Given the description of an element on the screen output the (x, y) to click on. 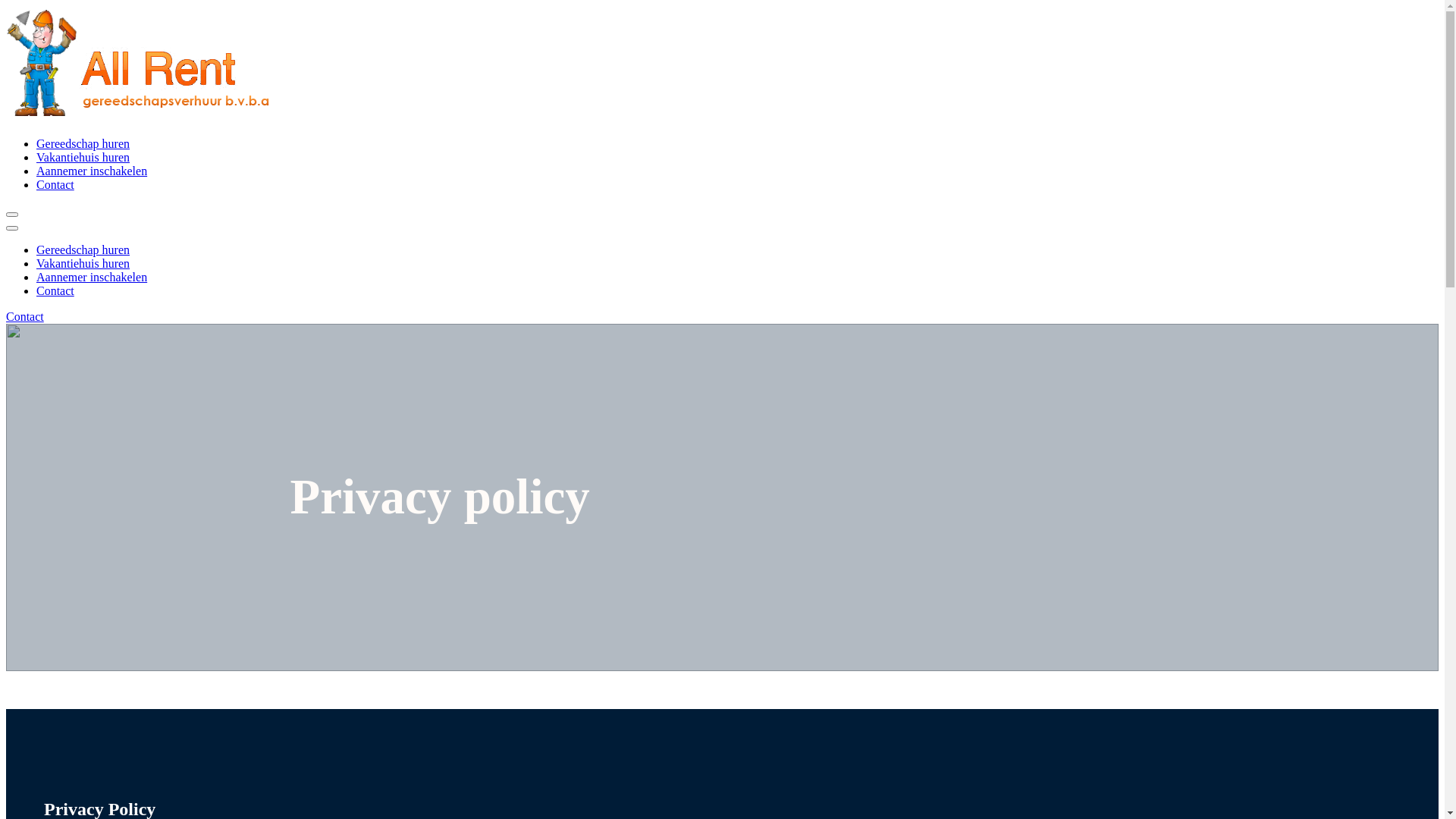
Vakantiehuis huren Element type: text (82, 263)
Gereedschap huren Element type: text (82, 143)
Aannemer inschakelen Element type: text (91, 170)
Contact Element type: text (55, 290)
Gereedschap huren Element type: text (82, 249)
Aannemer inschakelen Element type: text (91, 276)
Vakantiehuis huren Element type: text (82, 156)
Contact Element type: text (55, 184)
Contact Element type: text (24, 316)
